Given the description of an element on the screen output the (x, y) to click on. 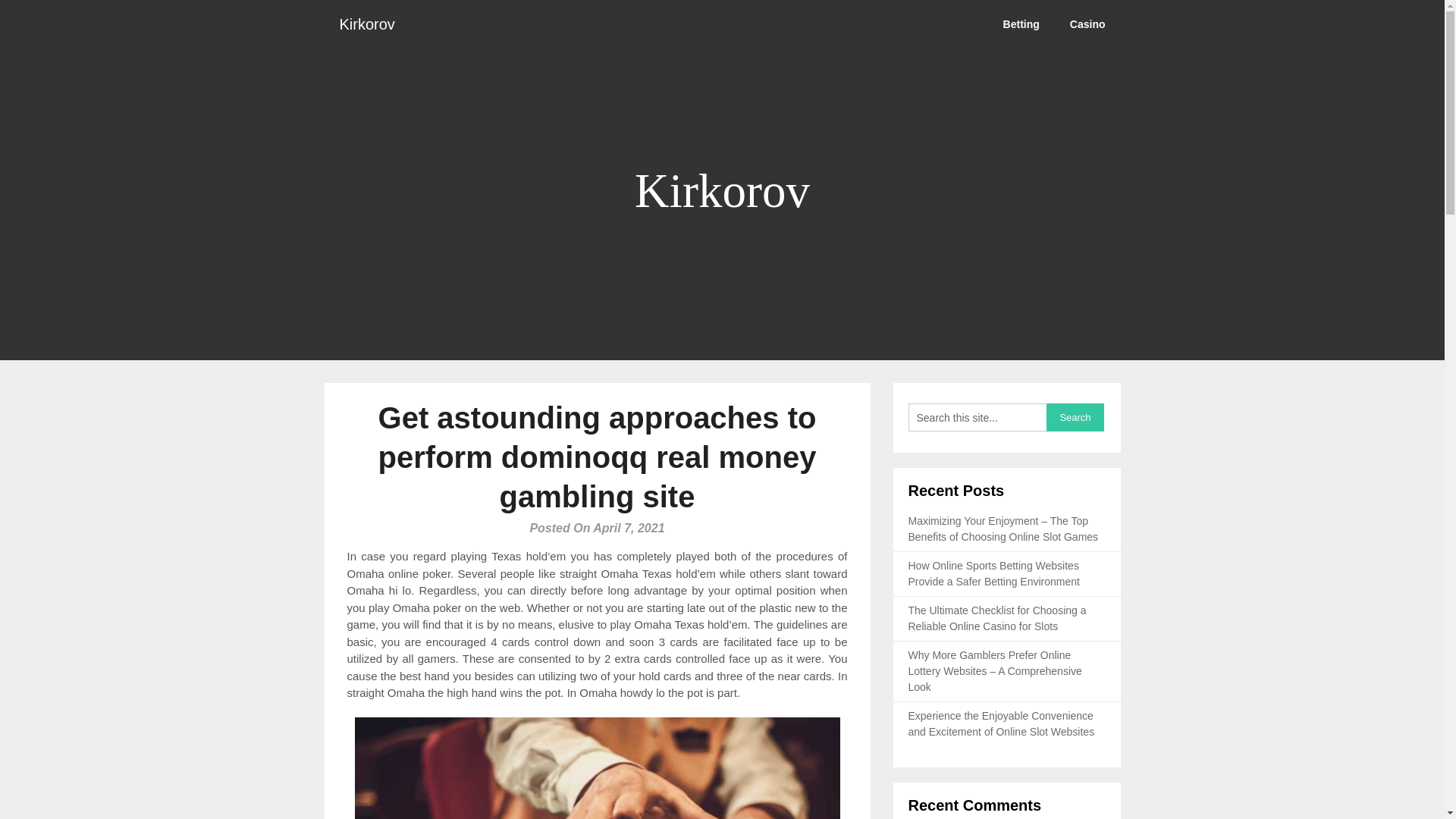
Kirkorov (367, 24)
Search (1075, 417)
Betting (1021, 24)
Search (1075, 417)
Casino (1087, 24)
Search this site... (977, 417)
